Given the description of an element on the screen output the (x, y) to click on. 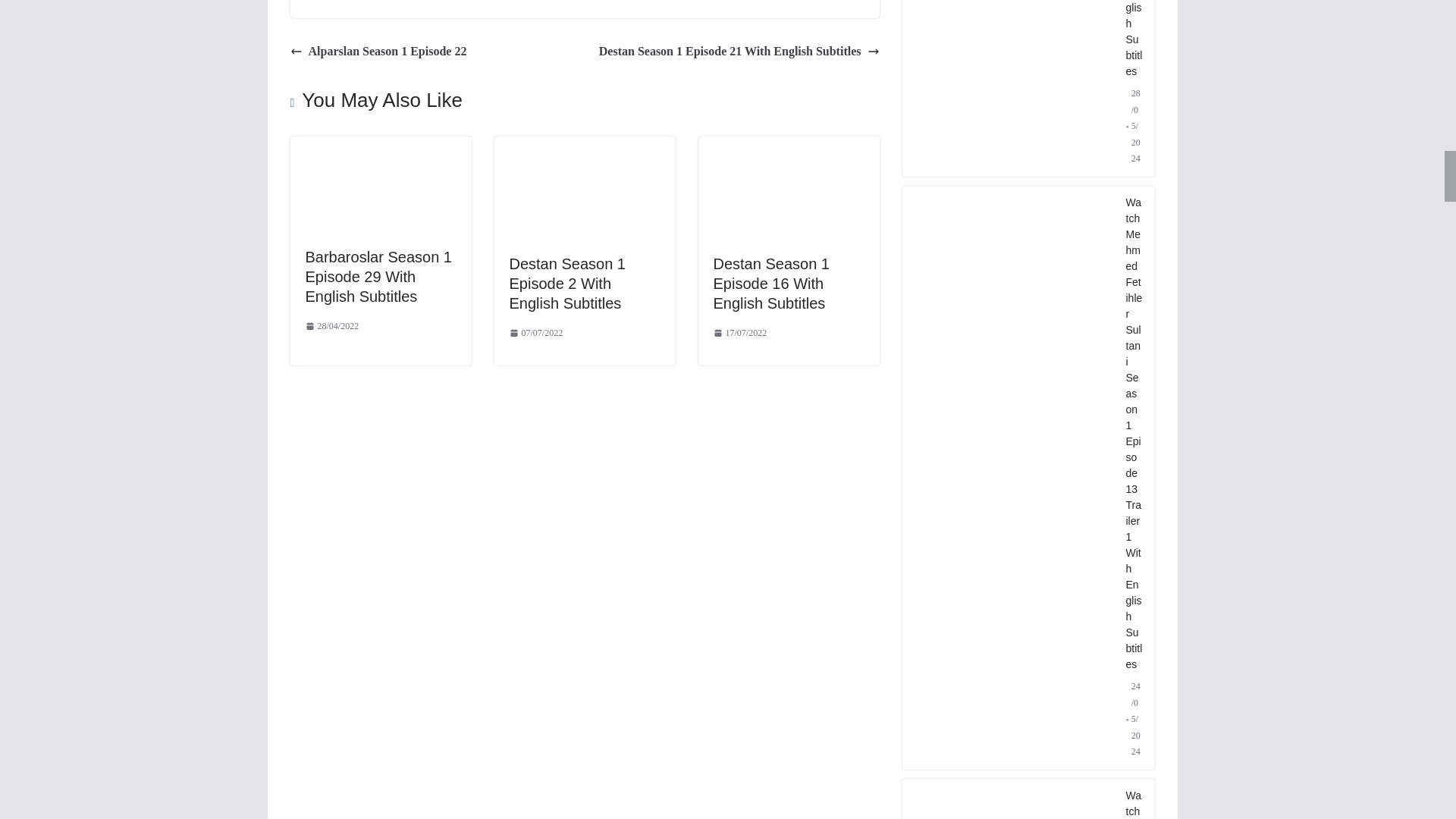
Destan Season 1 Episode 2 With English Subtitles (585, 146)
Destan Season 1 Episode 2 With English Subtitles (567, 283)
Barbaroslar Season 1 Episode 29 With English Subtitles (379, 146)
11:54 pm (331, 326)
3:07 pm (536, 333)
Barbaroslar Season 1 Episode 29 With English Subtitles (377, 276)
